Given the description of an element on the screen output the (x, y) to click on. 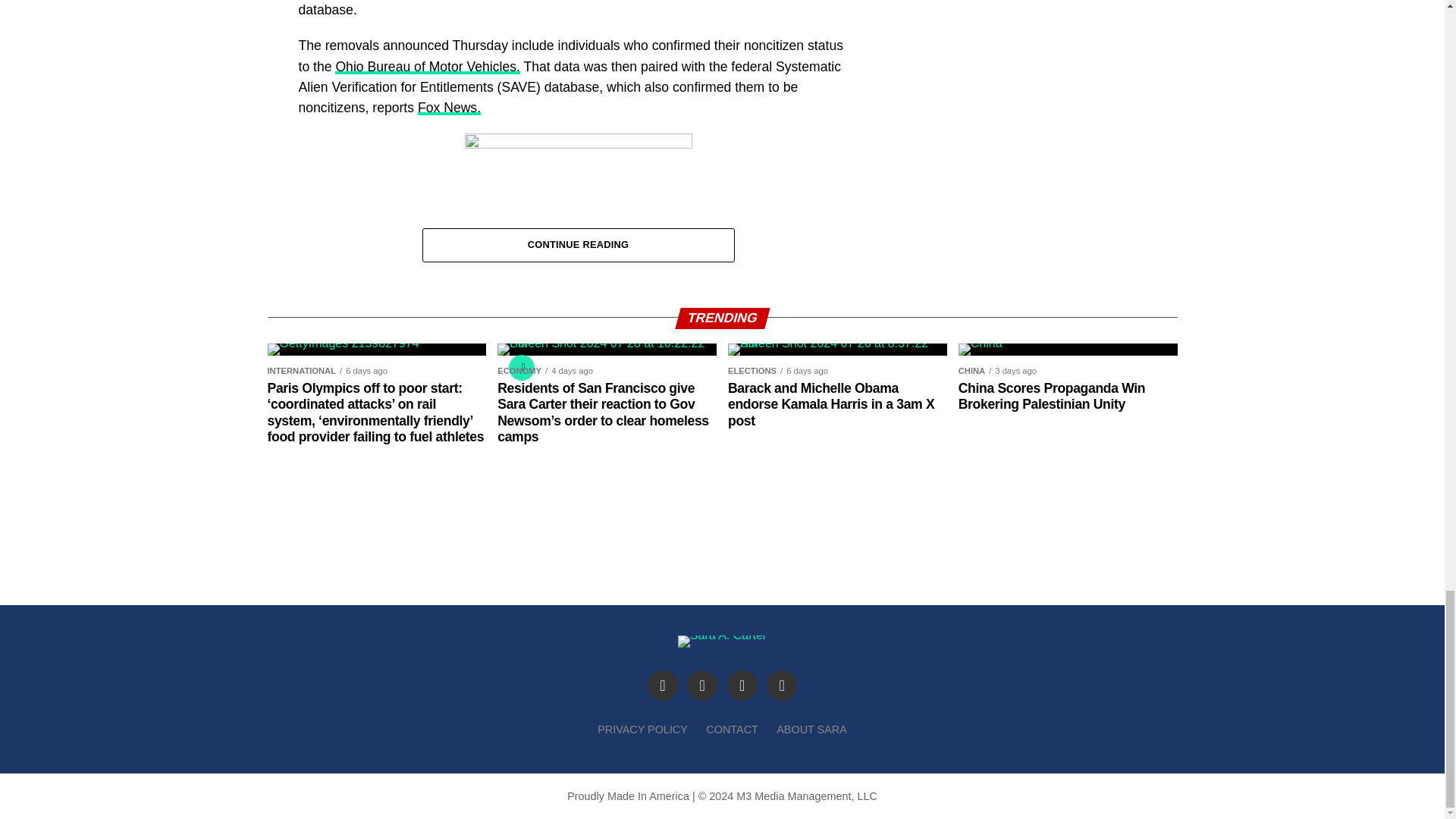
China Scores Propaganda Win Brokering Palestinian Unity 9 (980, 342)
Fox News. (448, 107)
Ohio Bureau of Motor Vehicles. (426, 66)
